Given the description of an element on the screen output the (x, y) to click on. 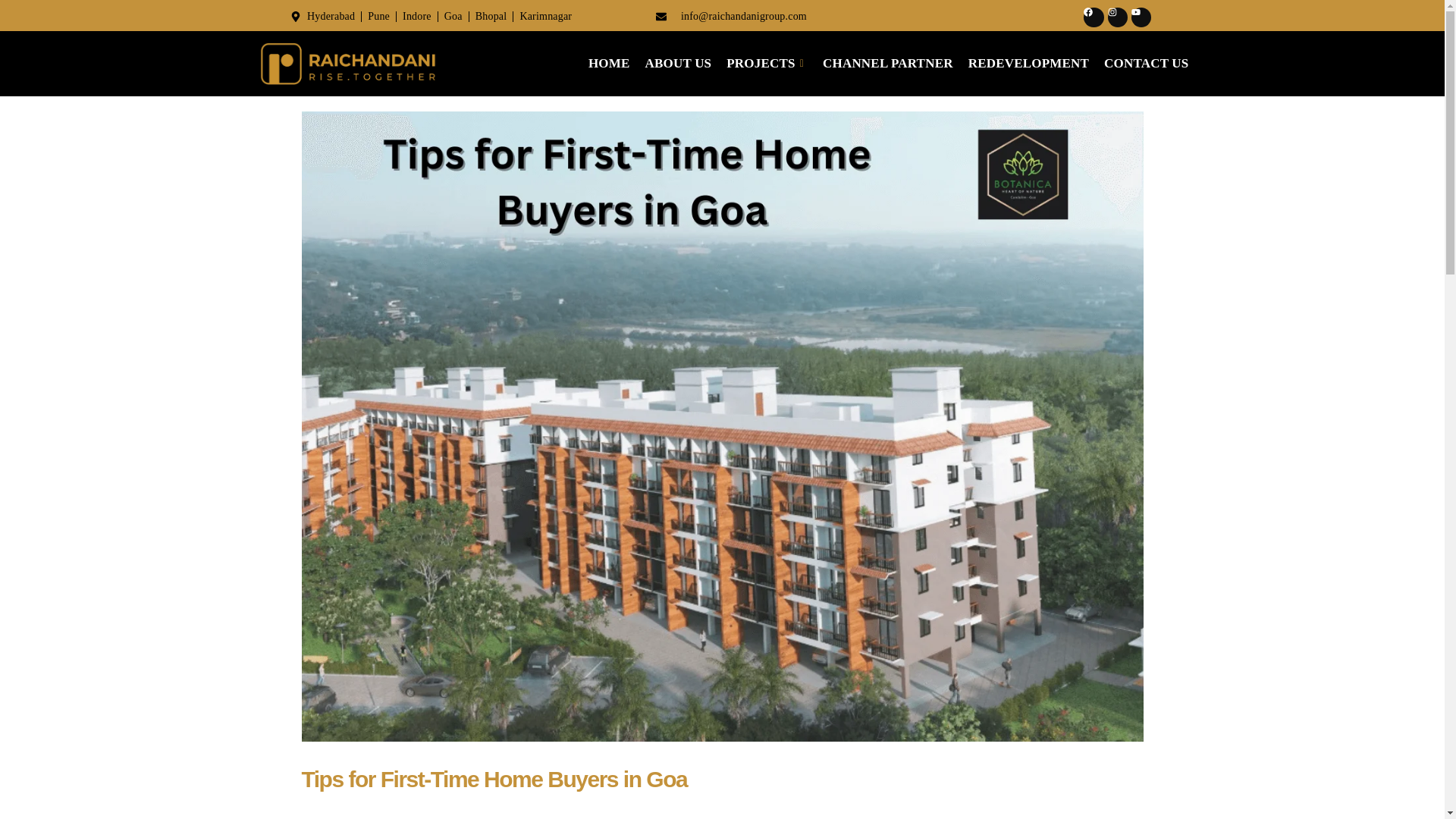
CHANNEL PARTNER (887, 63)
HOME (608, 63)
ABOUT US (678, 63)
CONTACT US (1145, 63)
REDEVELOPMENT (1028, 63)
PROJECTS (767, 63)
